Given the description of an element on the screen output the (x, y) to click on. 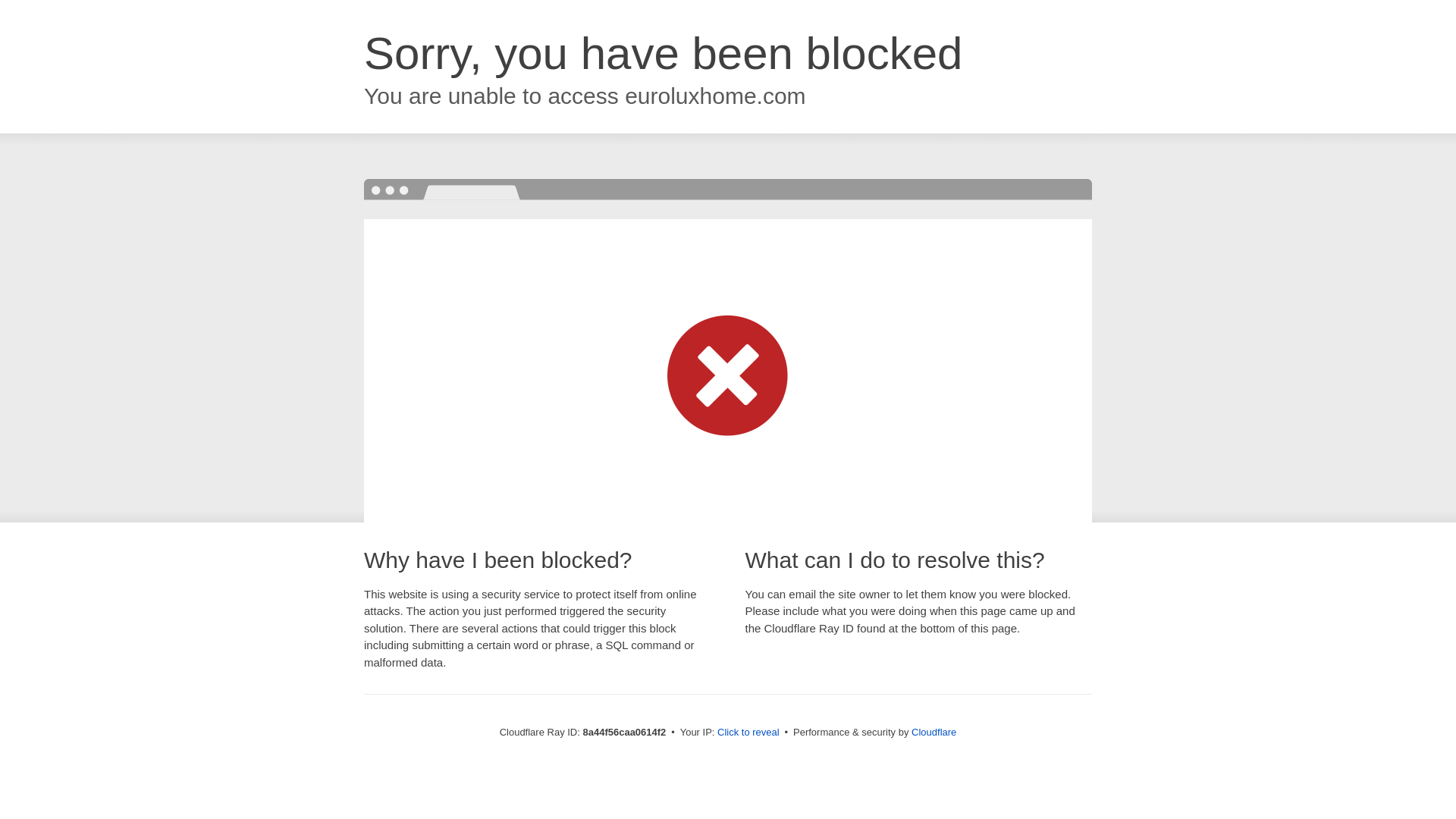
Cloudflare (933, 731)
Click to reveal (747, 732)
